Given the description of an element on the screen output the (x, y) to click on. 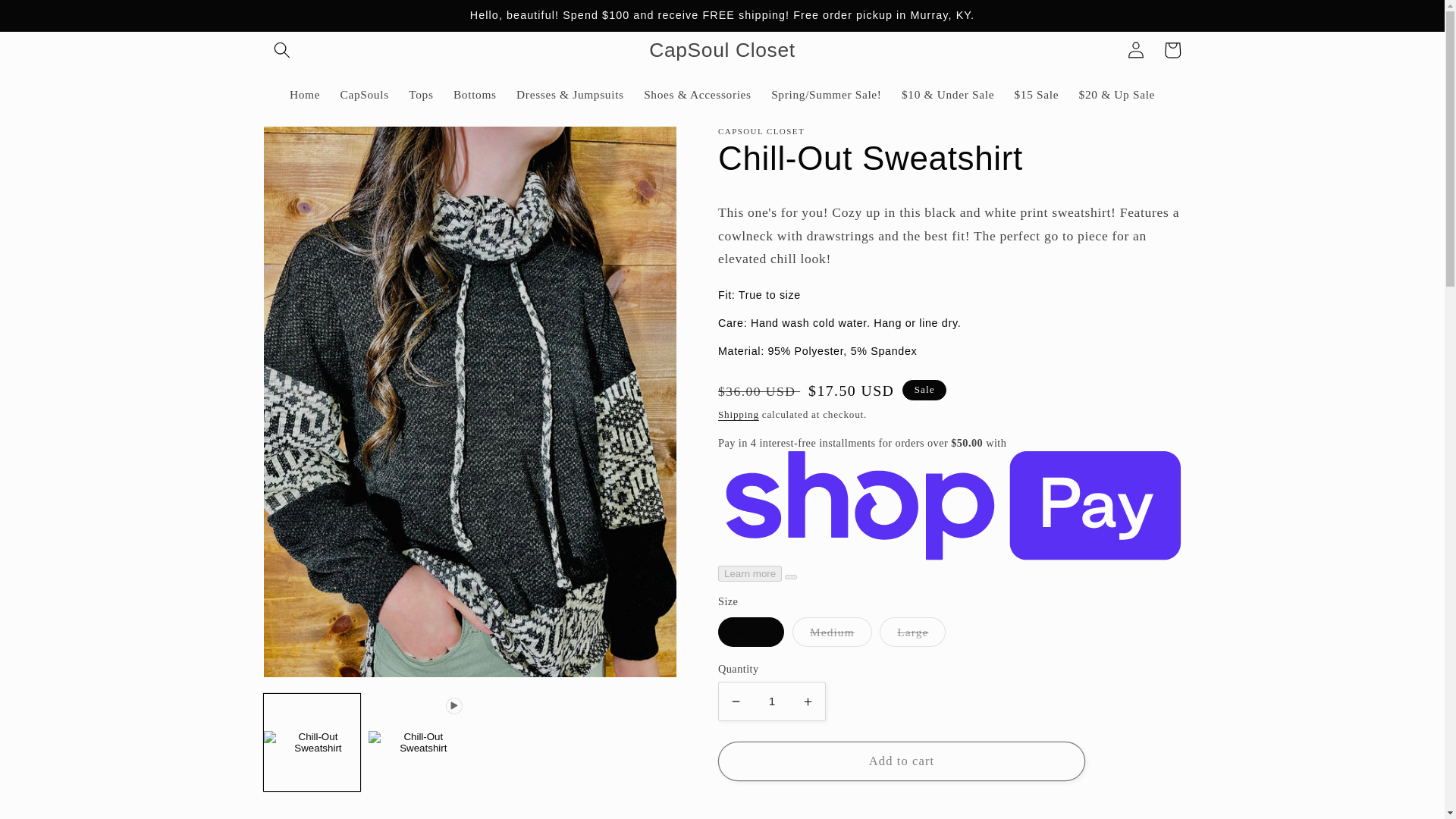
Home (304, 94)
CapSouls (364, 94)
Log in (1136, 49)
Bottoms (475, 94)
Cart (1172, 49)
1 (771, 701)
Skip to content (50, 19)
Tops (421, 94)
